Given the description of an element on the screen output the (x, y) to click on. 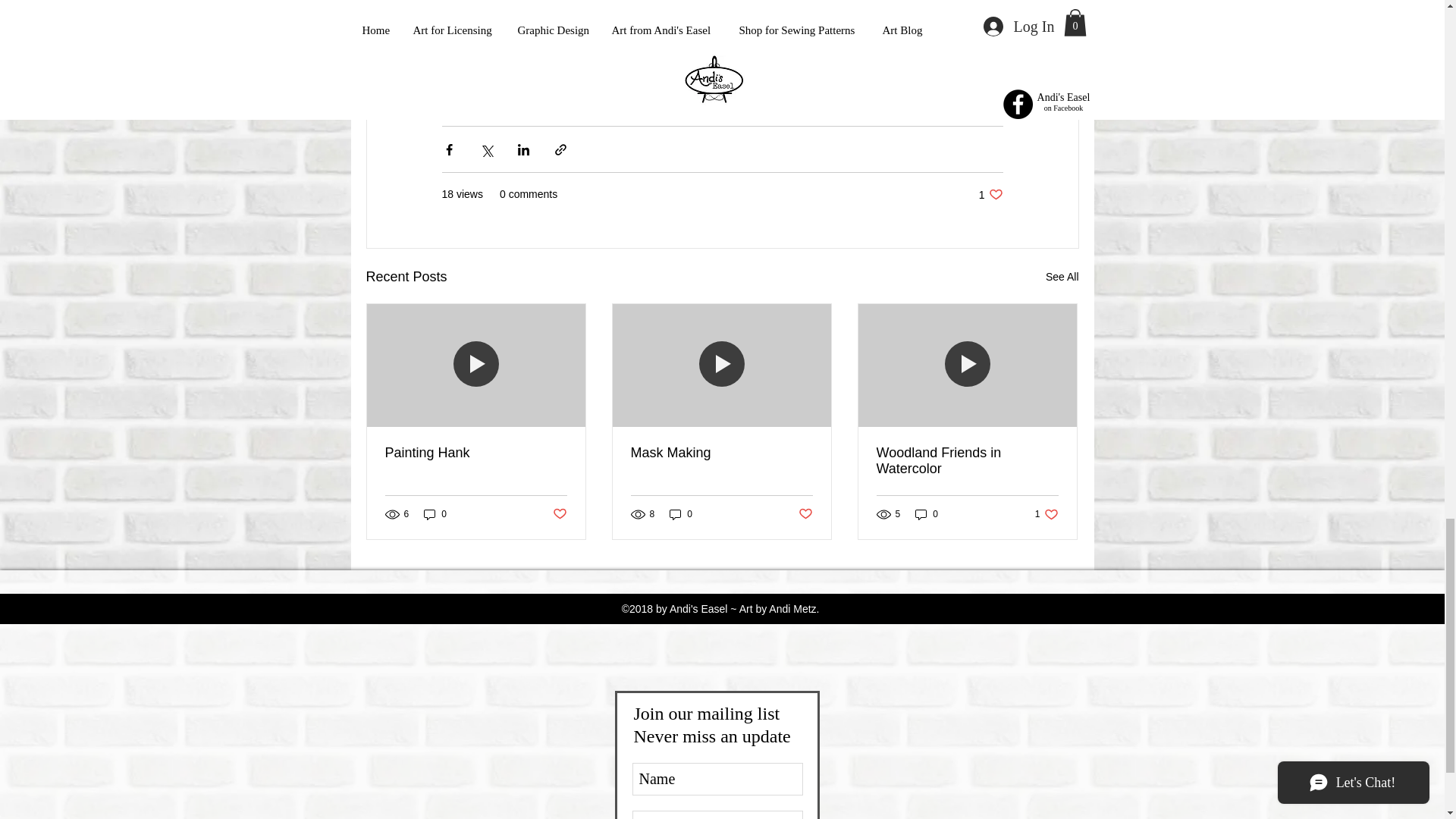
Post not marked as liked (558, 514)
fabric (990, 194)
sewing (820, 62)
flag (468, 91)
lucky gnomes (646, 62)
See All (580, 62)
0 (1061, 277)
odicoat (926, 513)
Woodland Friends in Watercolor (698, 62)
Mask Making (967, 460)
kanvas studios (721, 453)
making an outdoor flag (486, 62)
benartex (913, 62)
Painting Hank (761, 62)
